Given the description of an element on the screen output the (x, y) to click on. 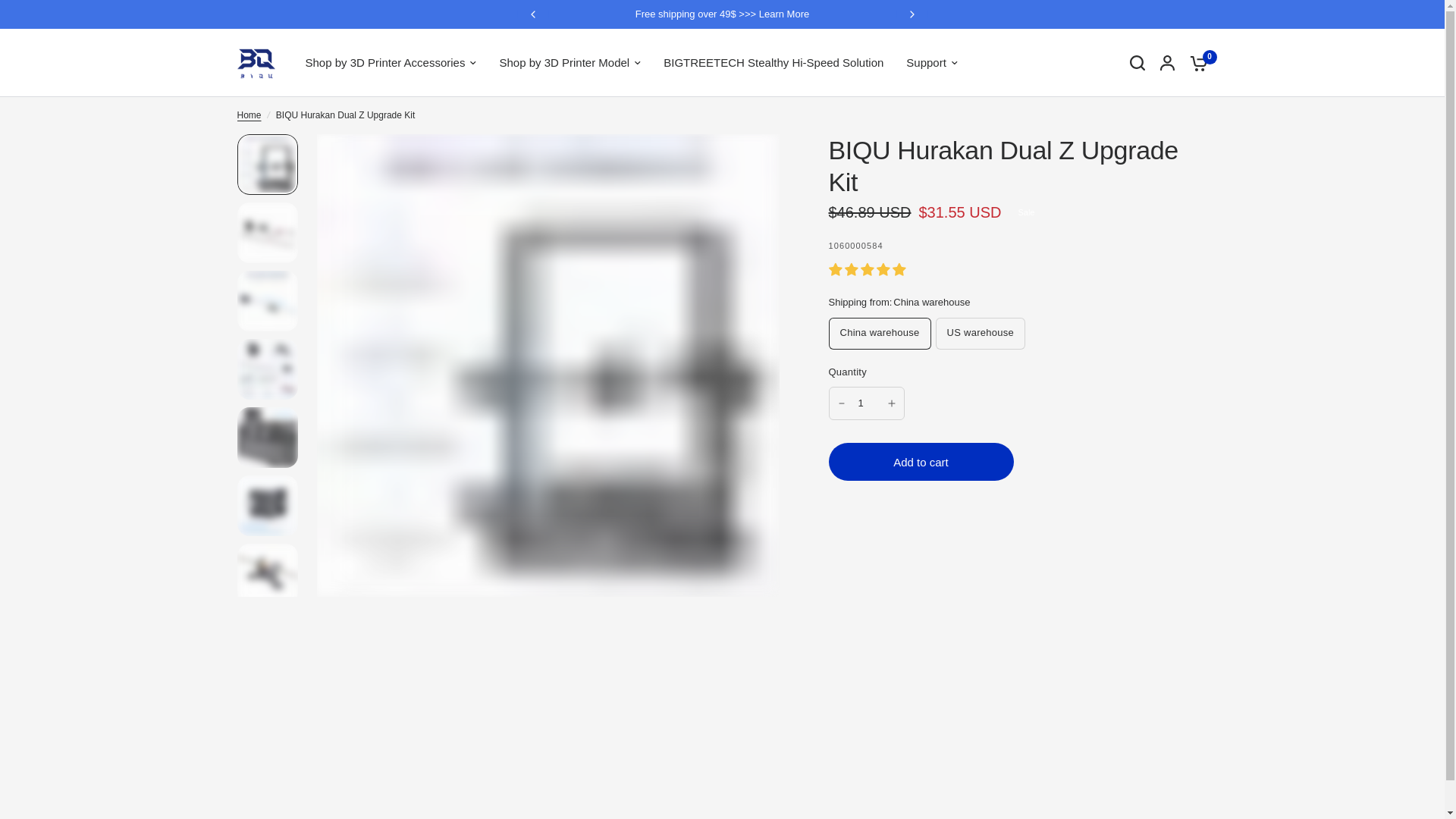
Shop by 3D Printer Accessories (390, 63)
